Given the description of an element on the screen output the (x, y) to click on. 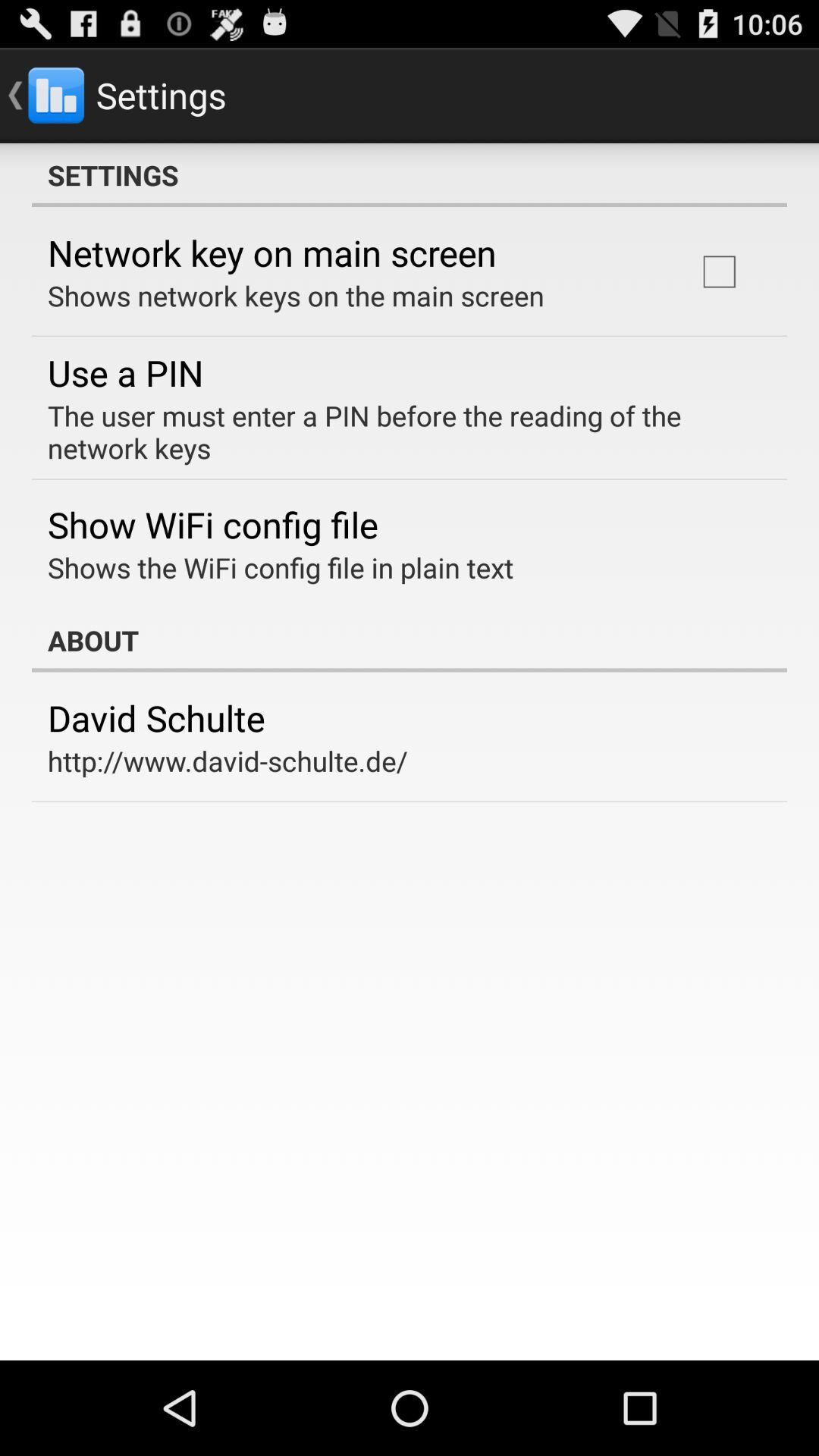
tap the user must item (399, 431)
